Given the description of an element on the screen output the (x, y) to click on. 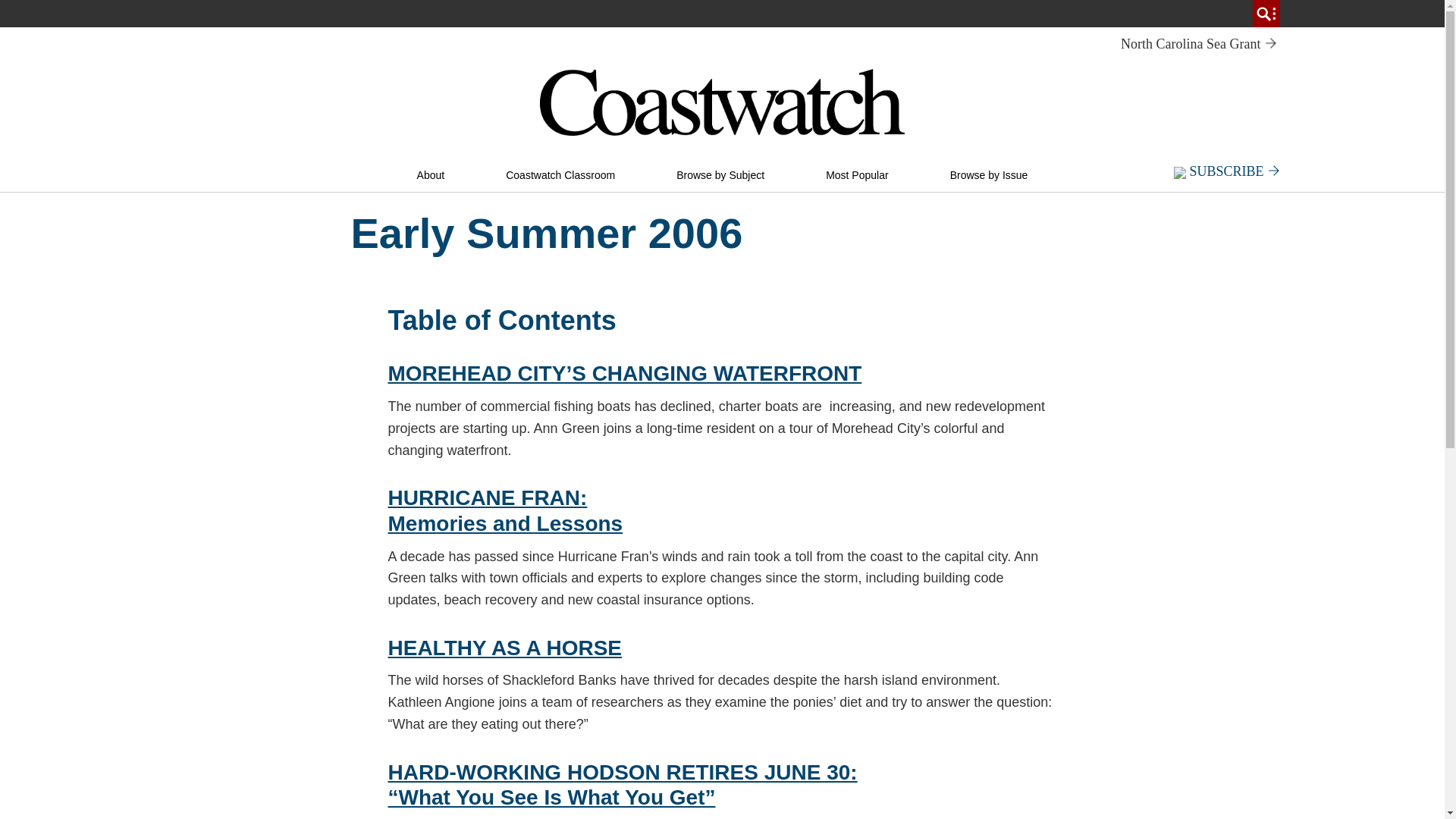
About (430, 175)
Browse by Subject (719, 175)
Hurricane Fran: Memories and Lessons (488, 497)
North Carolina Sea Grant (1198, 44)
Healthy as a Horse (505, 648)
Coastwatch Classroom (560, 175)
Hurricane Fran: Memories and Lessons (505, 523)
